Given the description of an element on the screen output the (x, y) to click on. 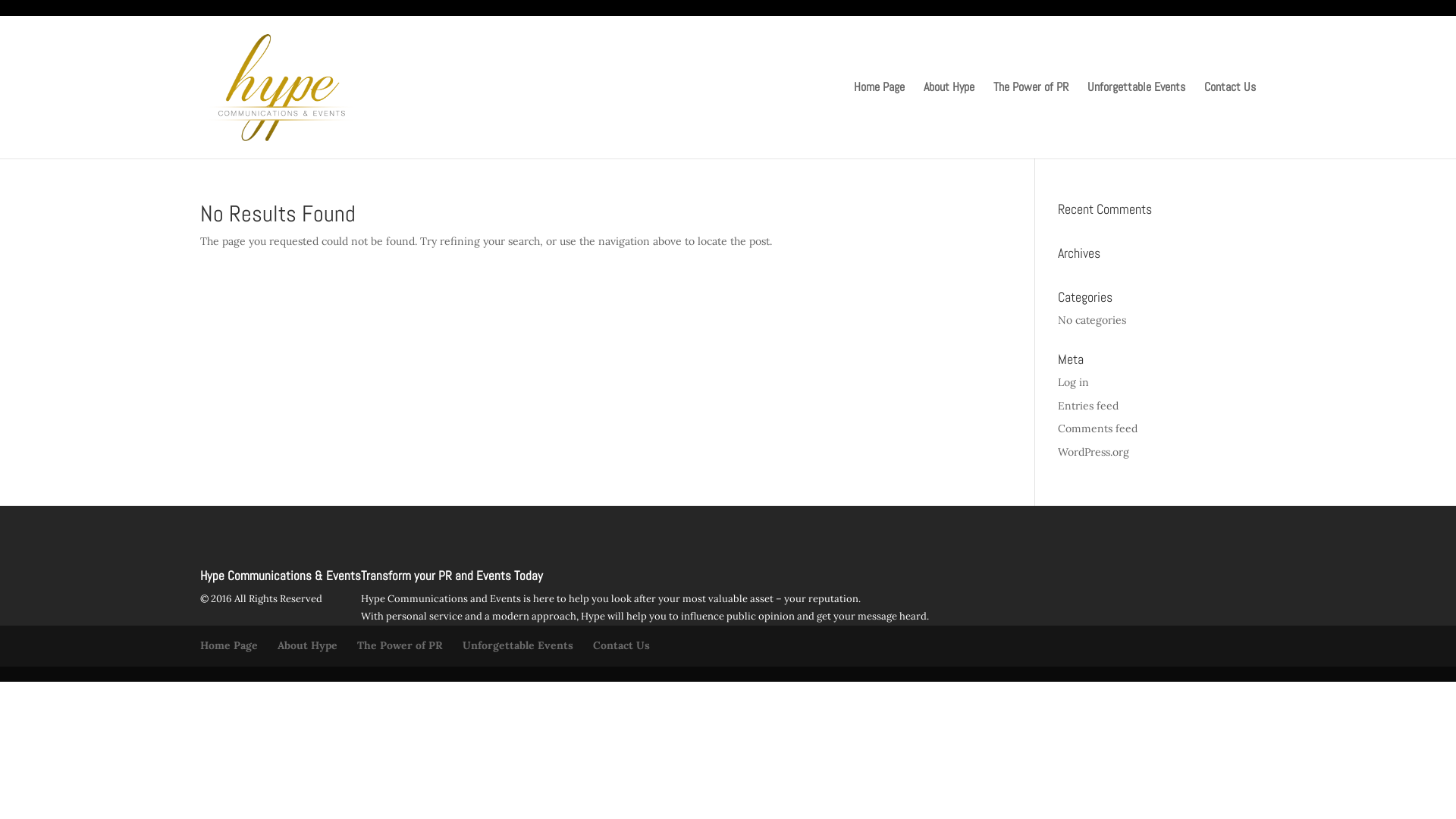
Unforgettable Events Element type: text (517, 645)
Home Page Element type: text (878, 119)
The Power of PR Element type: text (399, 645)
Unforgettable Events Element type: text (1136, 119)
Contact Us Element type: text (1229, 119)
Home Page Element type: text (228, 645)
Contact Us Element type: text (621, 645)
WordPress.org Element type: text (1093, 451)
Comments feed Element type: text (1097, 428)
The Power of PR Element type: text (1030, 119)
About Hype Element type: text (948, 119)
About Hype Element type: text (307, 645)
Log in Element type: text (1072, 382)
Entries feed Element type: text (1087, 405)
